Given the description of an element on the screen output the (x, y) to click on. 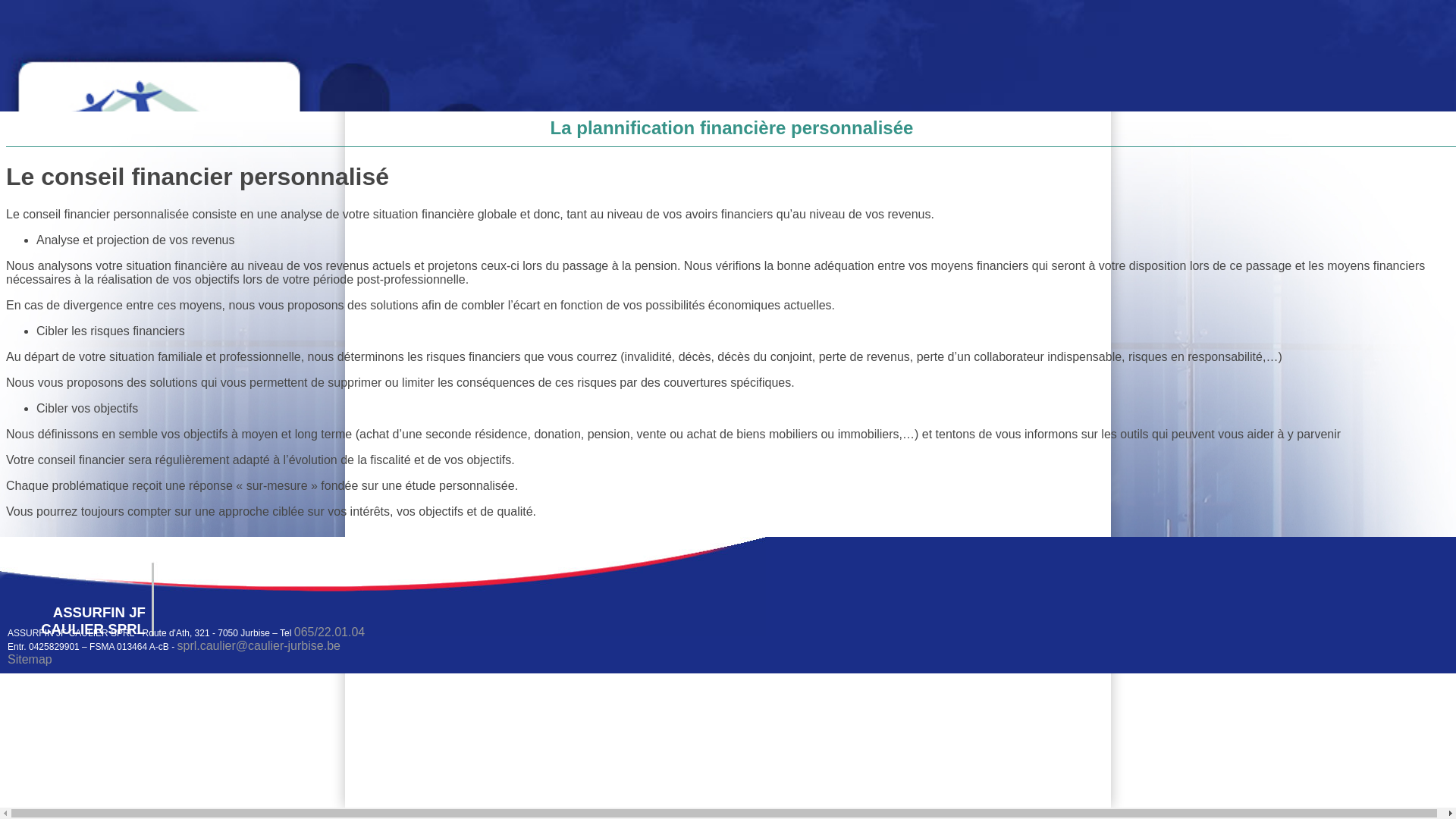
065/22.01.04 Element type: text (329, 631)
Sitemap Element type: text (29, 658)
sprl.caulier@caulier-jurbise.be Element type: text (257, 645)
